Given the description of an element on the screen output the (x, y) to click on. 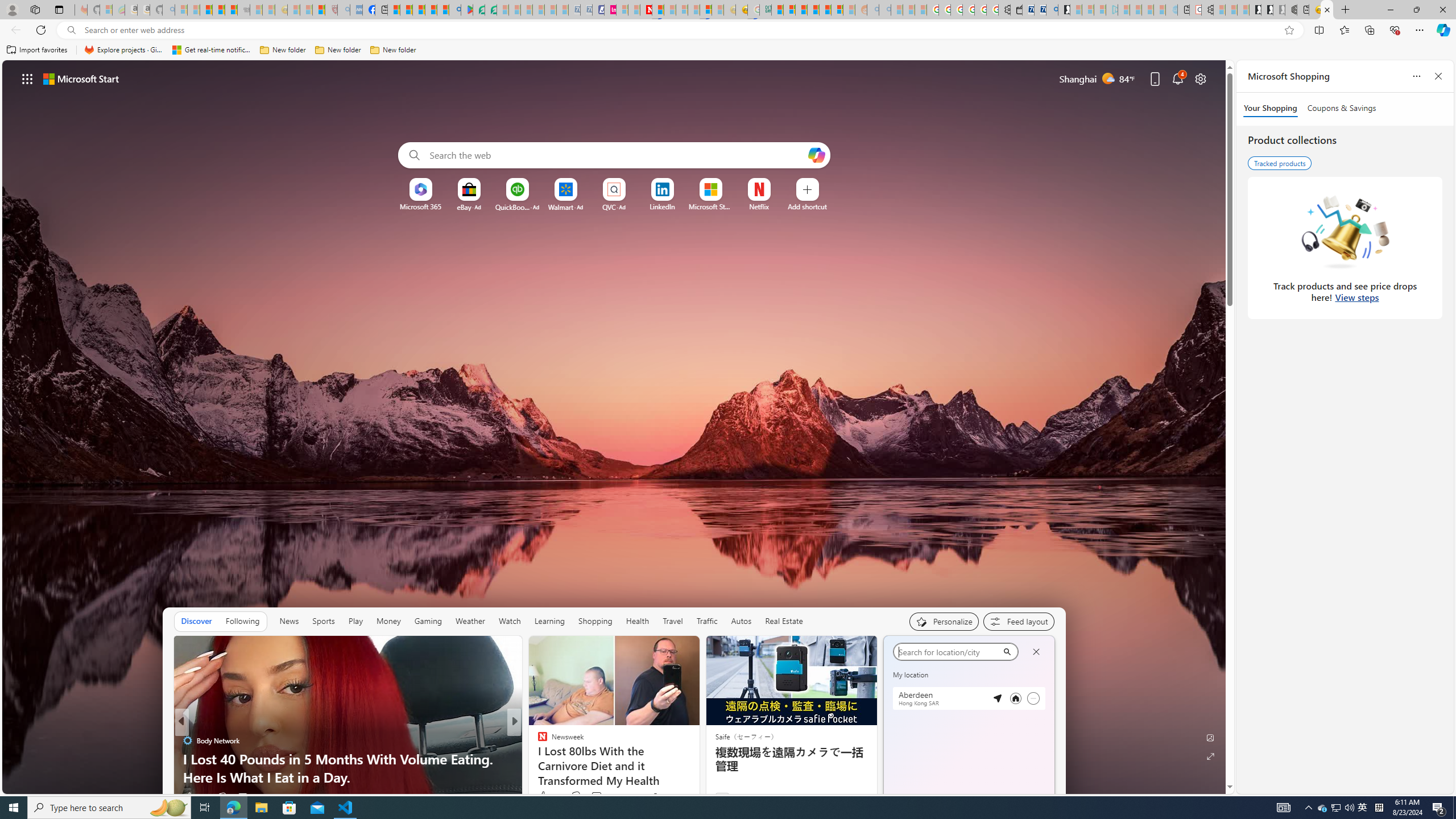
Real Estate (783, 621)
previous (888, 722)
